Given the description of an element on the screen output the (x, y) to click on. 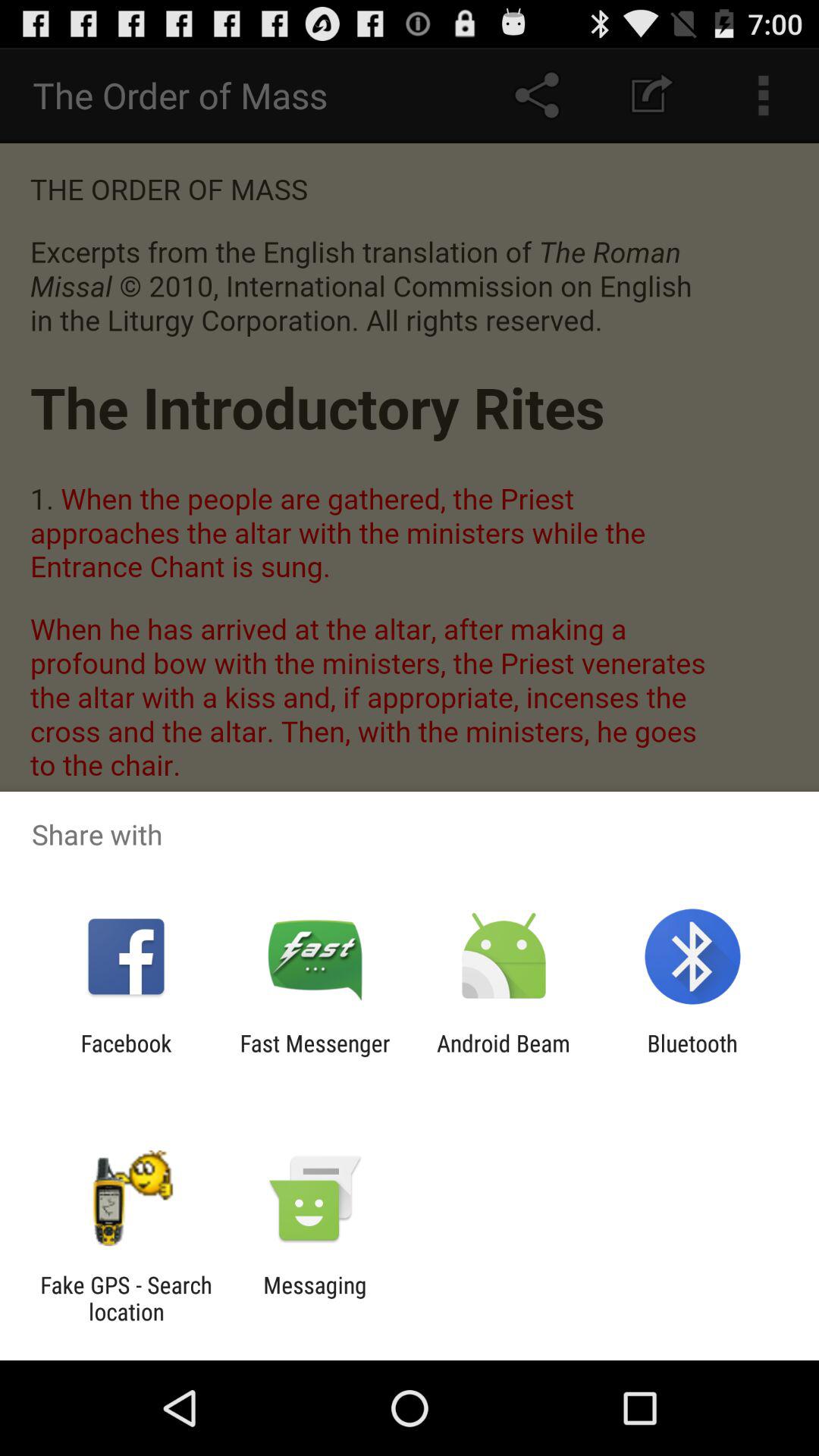
select item to the left of fast messenger app (125, 1056)
